Given the description of an element on the screen output the (x, y) to click on. 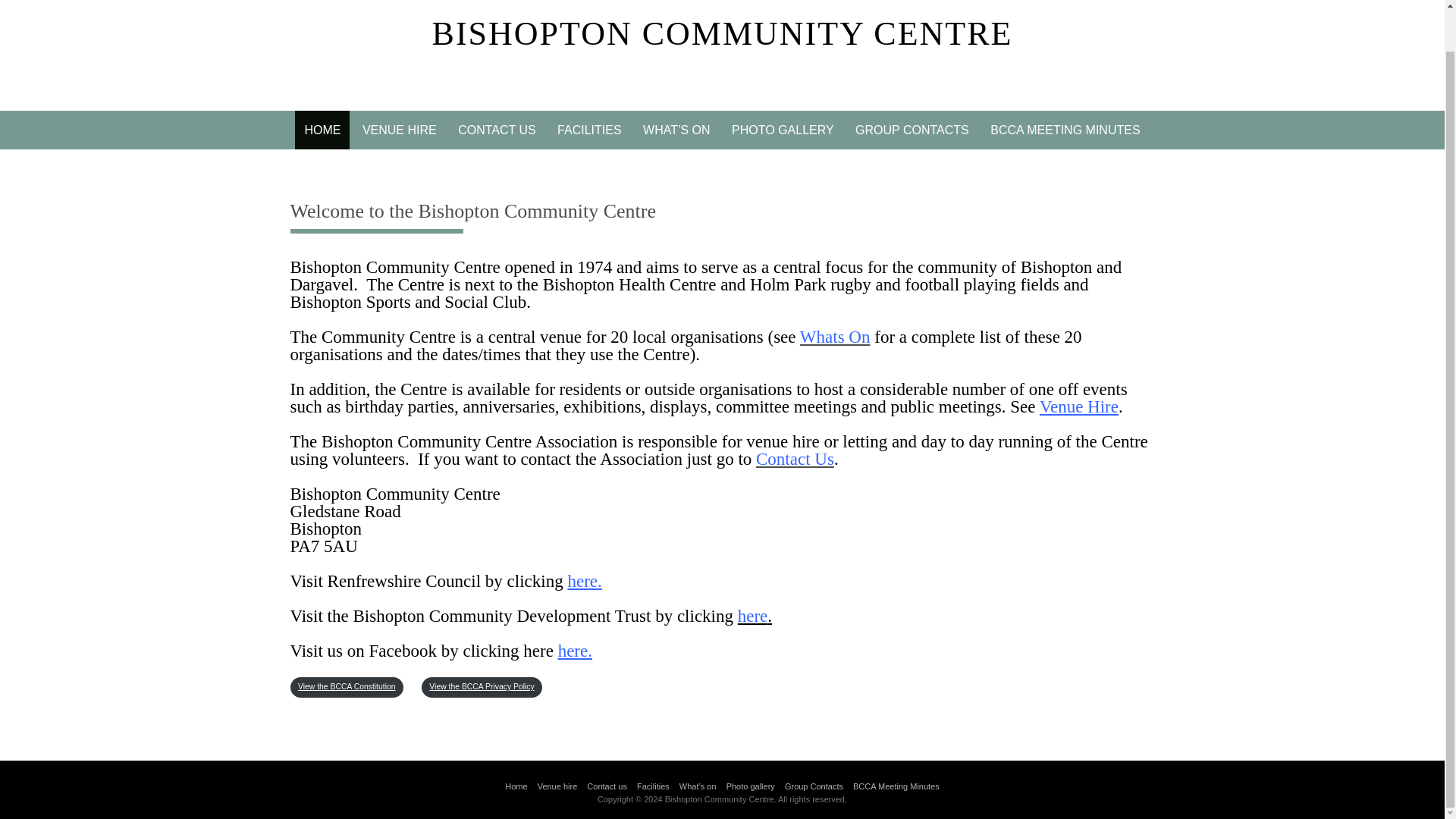
Whats On (834, 336)
GROUP CONTACTS (911, 129)
CONTACT US (496, 129)
BCCA Meeting Minutes (896, 786)
View the BCCA Privacy Policy (481, 687)
Venue hire (557, 786)
BISHOPTON COMMUNITY CENTRE (722, 33)
here. (754, 615)
FACILITIES (589, 129)
Bishopton Community Centre  (722, 33)
VENUE HIRE (399, 129)
Contact Us (794, 458)
HOME (322, 129)
Venue Hire (1078, 406)
Contact us (606, 786)
